Given the description of an element on the screen output the (x, y) to click on. 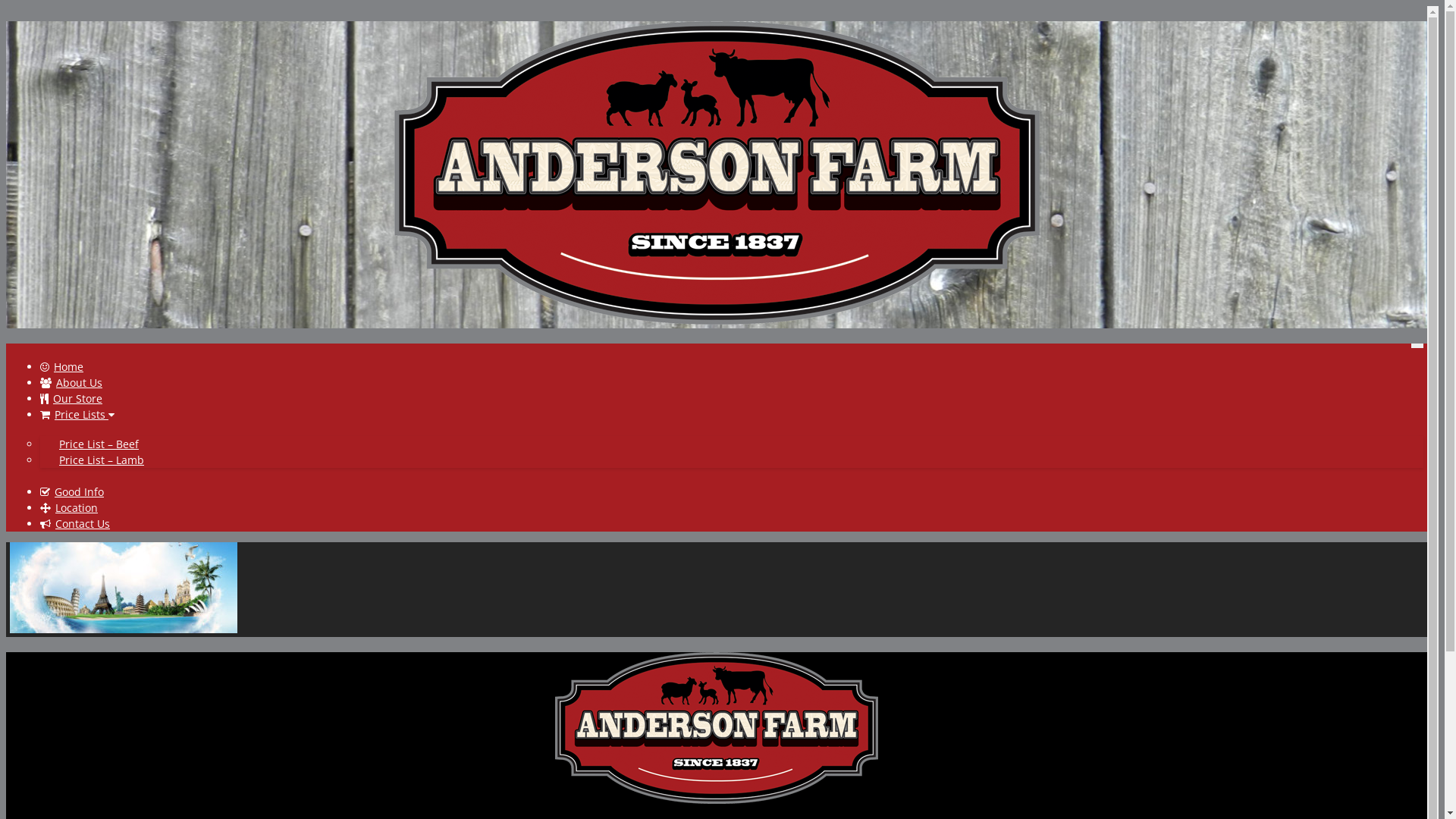
Our Store Element type: text (71, 398)
About Us Element type: text (71, 382)
Location Element type: text (68, 507)
Good Info Element type: text (71, 491)
Toggle navigation Element type: text (1417, 345)
Home Element type: text (61, 366)
Price Lists Element type: text (74, 414)
Contact Us Element type: text (74, 523)
